Given the description of an element on the screen output the (x, y) to click on. 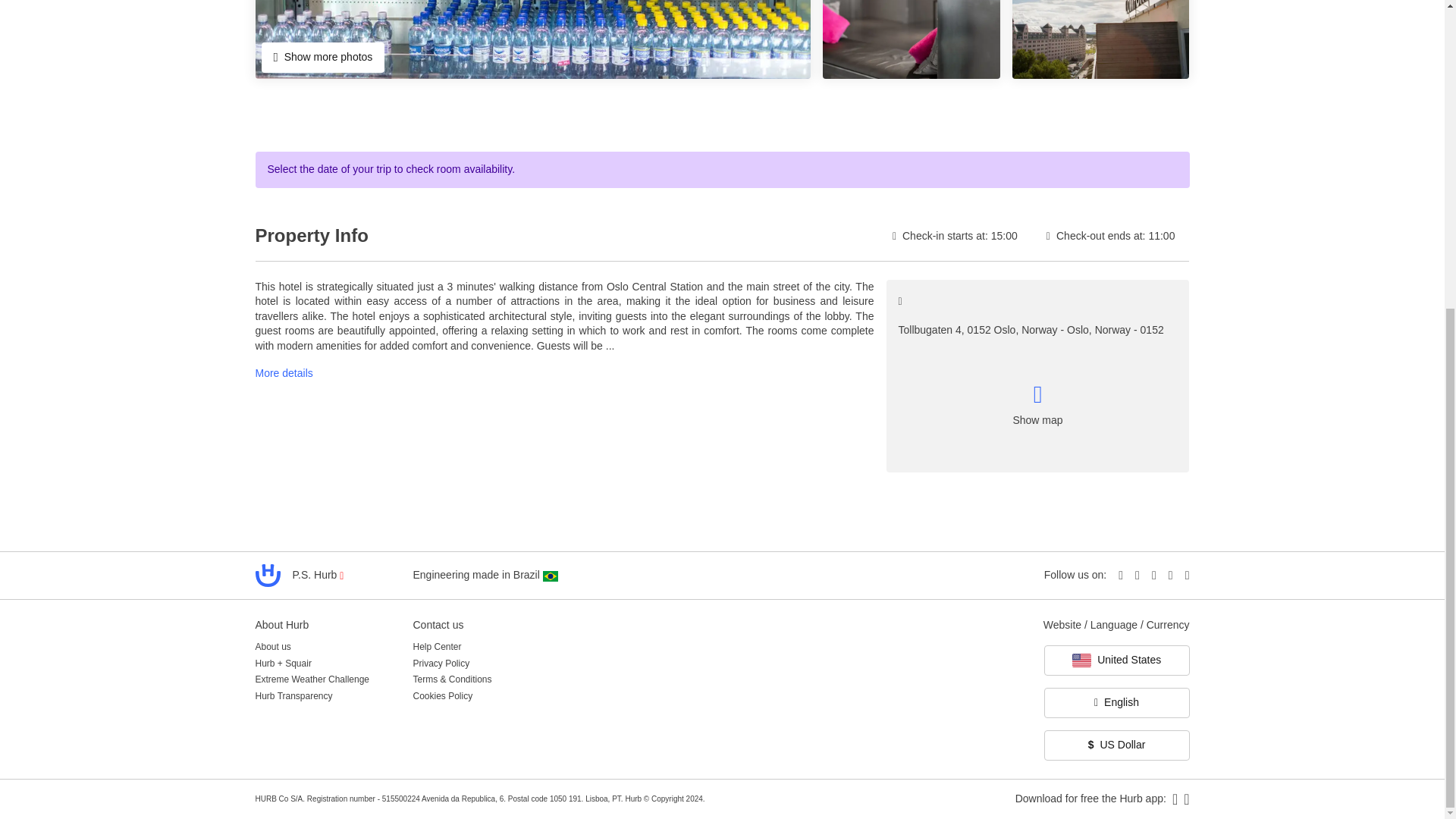
United States (1116, 660)
Cookies Policy (441, 696)
About us (271, 647)
Cookies Policy (441, 696)
About us (271, 647)
Privacy Policy (440, 663)
Extreme Weather Challenge (311, 679)
Hurb Transparency (292, 696)
English (1116, 702)
Privacy Policy (440, 663)
